Given the description of an element on the screen output the (x, y) to click on. 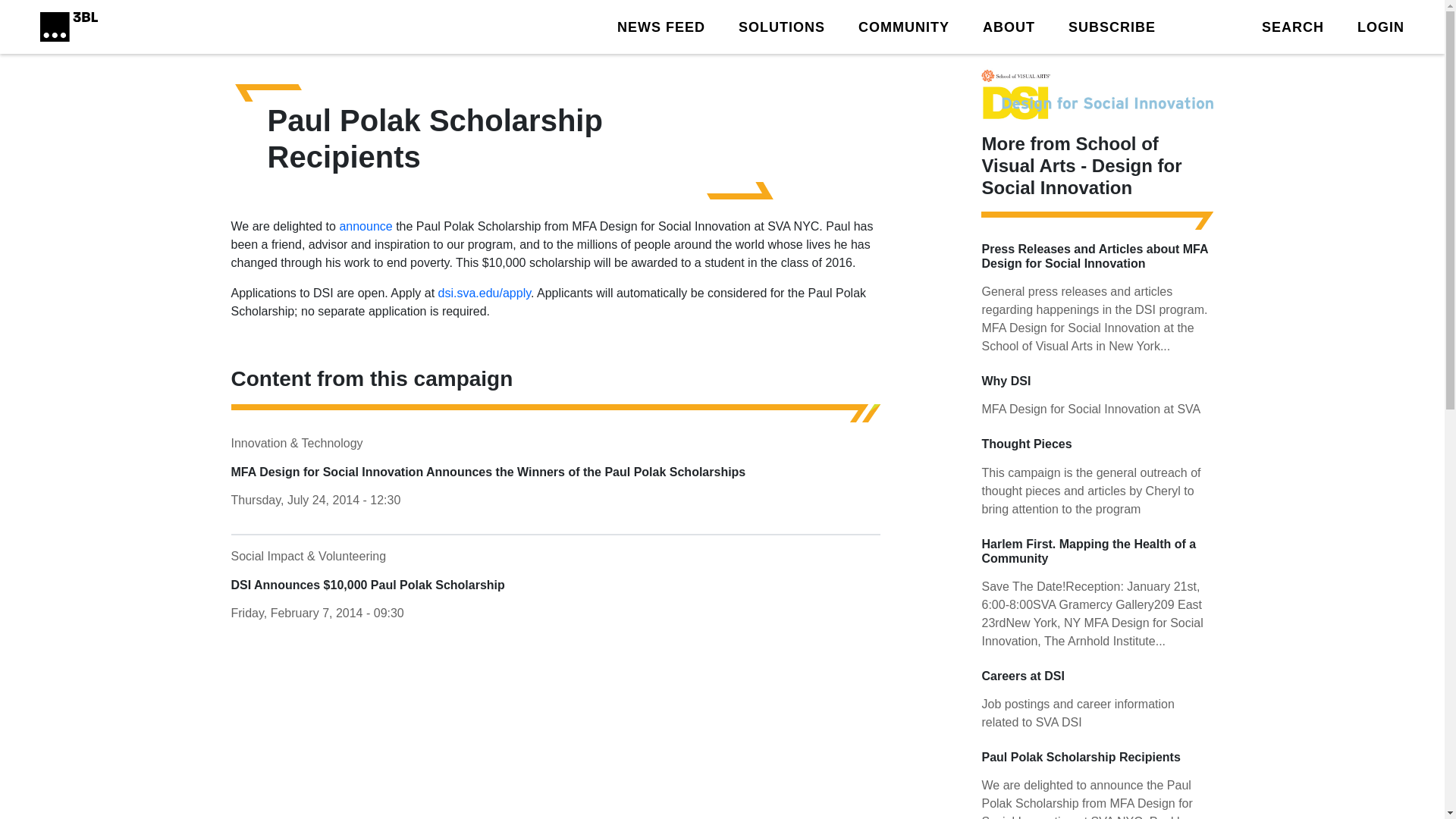
COMMUNITY (904, 26)
SOLUTIONS (781, 26)
SUBSCRIBE (1112, 26)
NEWS FEED (660, 26)
ABOUT (1008, 26)
